Given the description of an element on the screen output the (x, y) to click on. 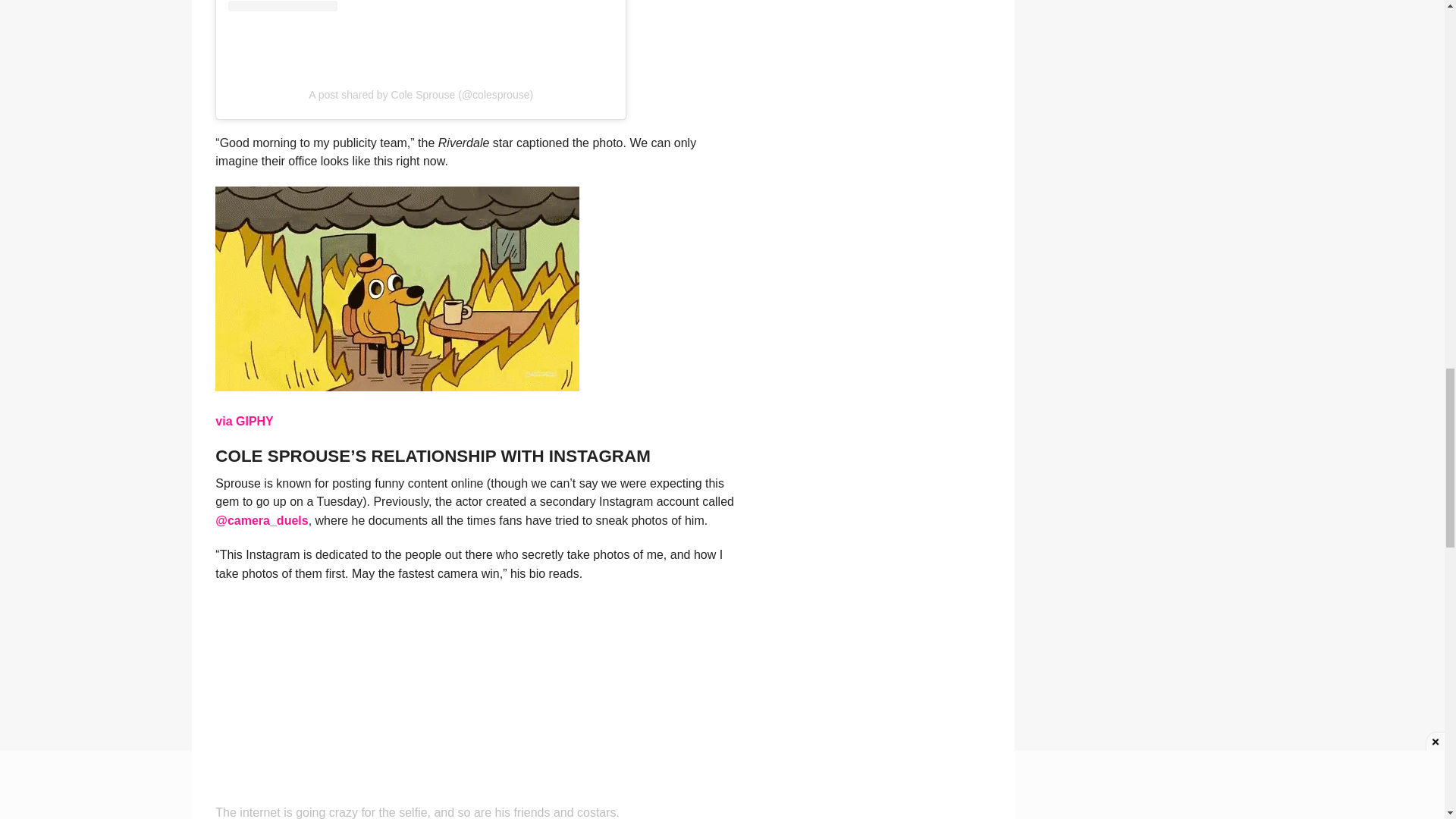
via GIPHY (244, 420)
